Given the description of an element on the screen output the (x, y) to click on. 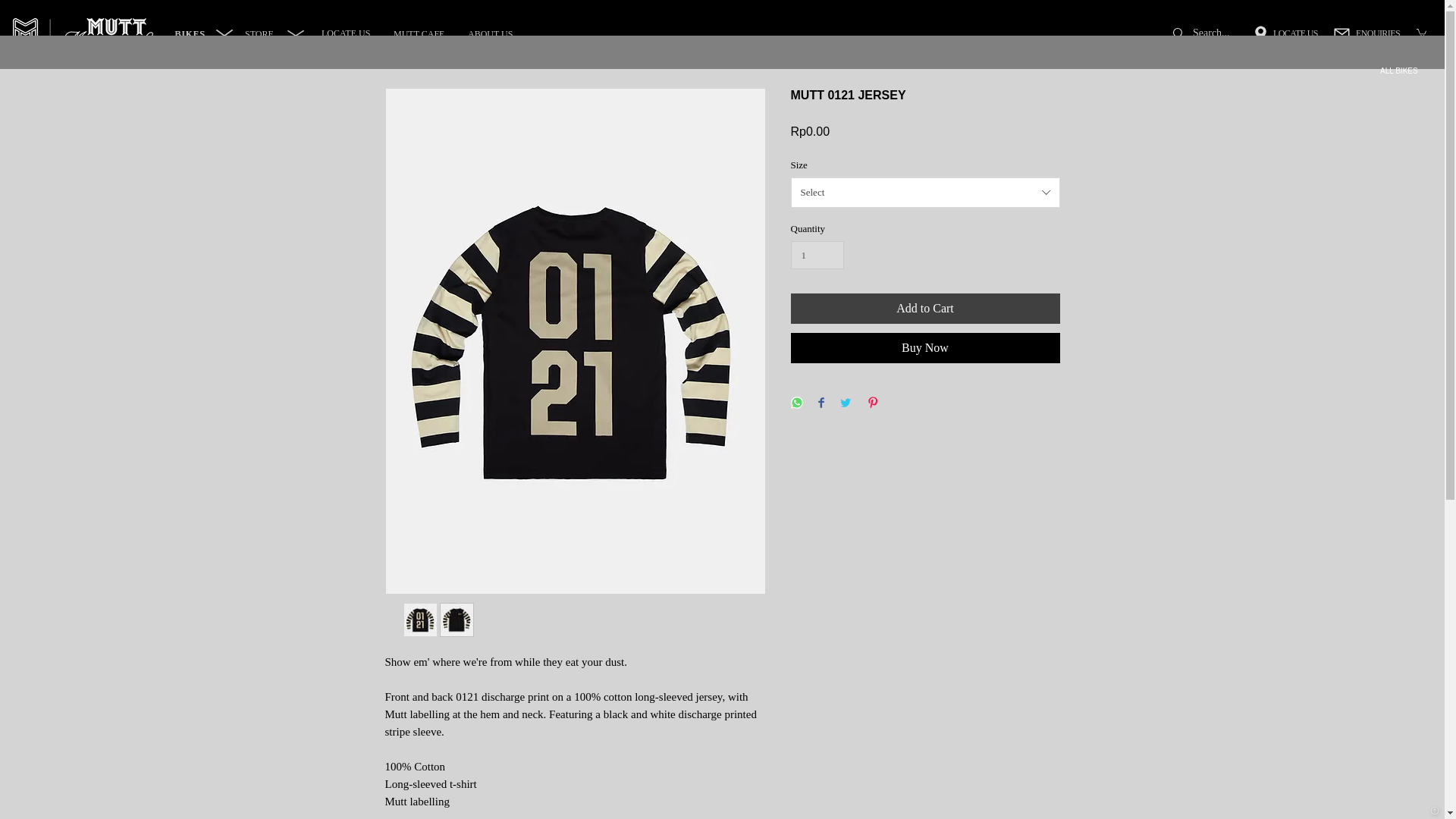
ALL BIKES (1399, 70)
LOCATE US (1283, 33)
ABOUT US (489, 33)
LOCATE US (345, 32)
ENQUIRIES (1366, 33)
STORE (258, 33)
1 (817, 255)
MUTT CAFE (418, 33)
BIKES (190, 34)
BIKES (190, 33)
